Given the description of an element on the screen output the (x, y) to click on. 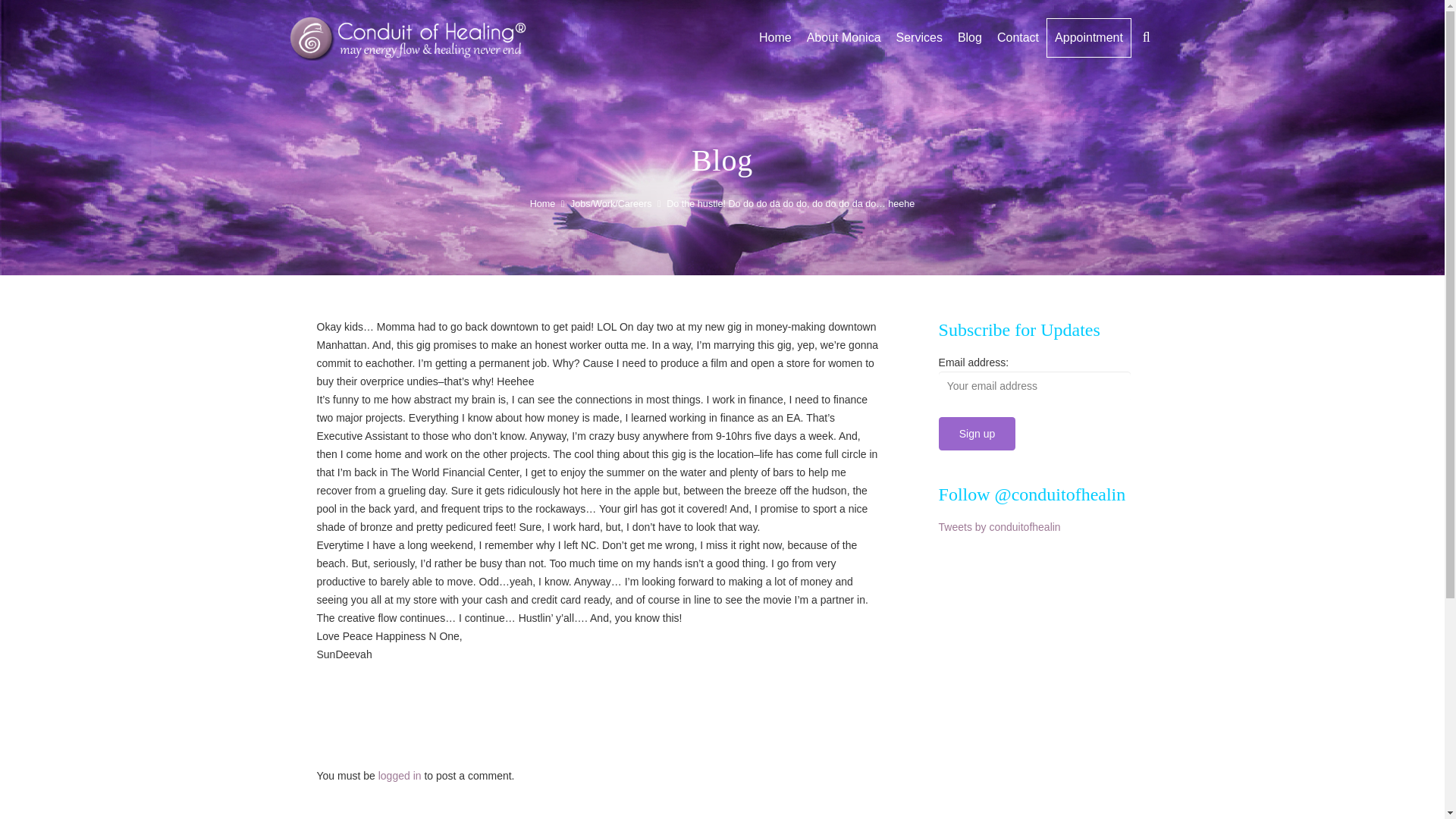
logged in (400, 775)
Sign up (977, 432)
Tweets by conduitofhealin (1000, 526)
Appointment (1088, 37)
About Monica (843, 37)
Home (775, 37)
Services (919, 37)
Contact (1018, 37)
Blog (970, 37)
Home (542, 204)
Sign up (977, 432)
